Given the description of an element on the screen output the (x, y) to click on. 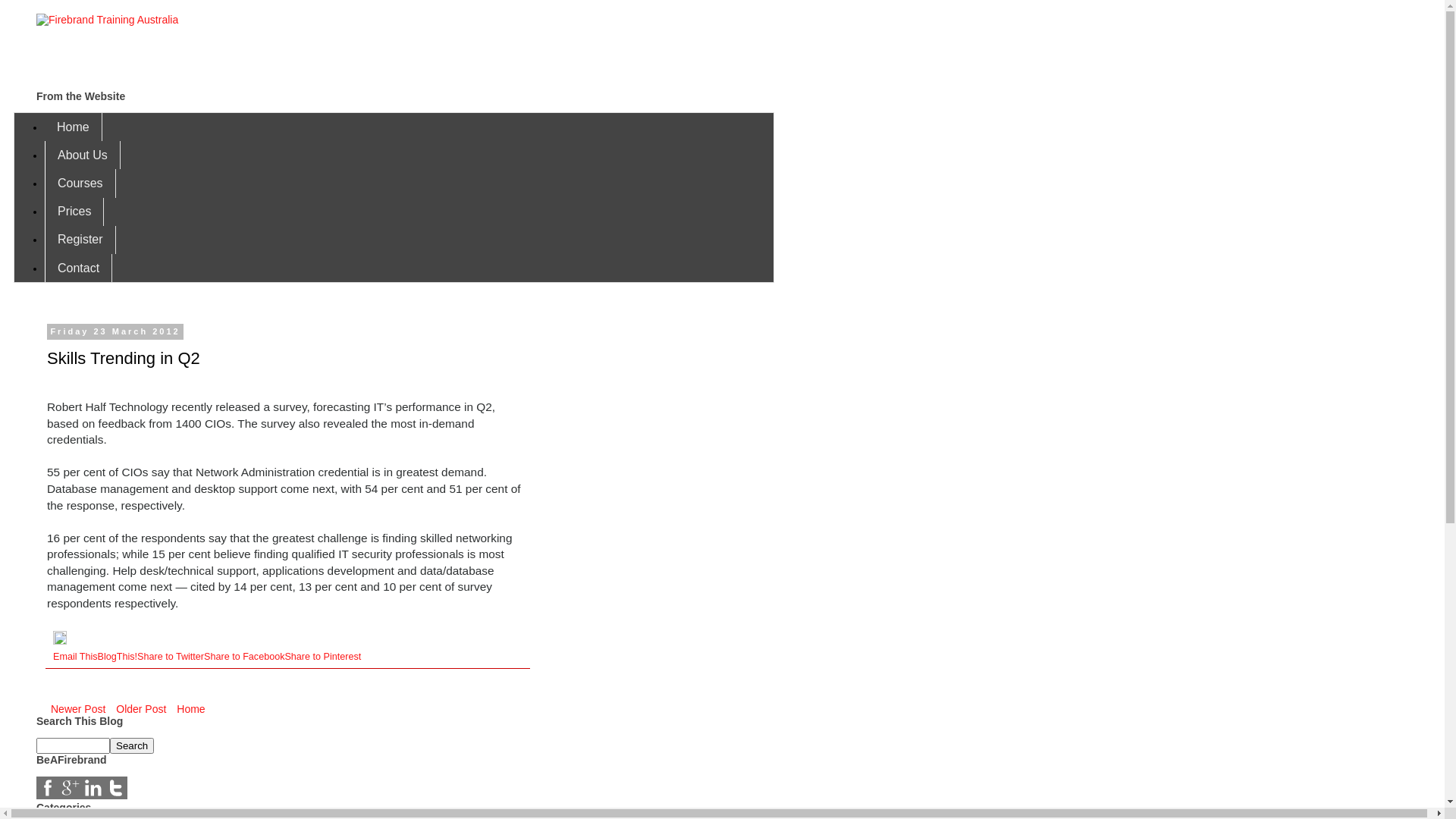
Newer Post Element type: text (78, 708)
Email This Element type: text (75, 656)
Like Firebrand Training Element type: hover (47, 787)
Older Post Element type: text (140, 708)
Register Element type: text (80, 239)
search Element type: hover (131, 745)
search Element type: hover (72, 745)
Twitter Element type: hover (115, 795)
Share to Twitter Element type: text (170, 656)
Edit Post Element type: hover (59, 641)
Courses Element type: text (80, 183)
Contact Element type: text (78, 268)
BlogThis! Element type: text (117, 656)
About Us Element type: text (82, 155)
Prices Element type: text (73, 211)
Share to Facebook Element type: text (243, 656)
LinkedIn Element type: hover (92, 795)
Home Element type: text (73, 126)
Home Element type: text (190, 708)
Share to Pinterest Element type: text (322, 656)
Search Element type: text (131, 745)
